Given the description of an element on the screen output the (x, y) to click on. 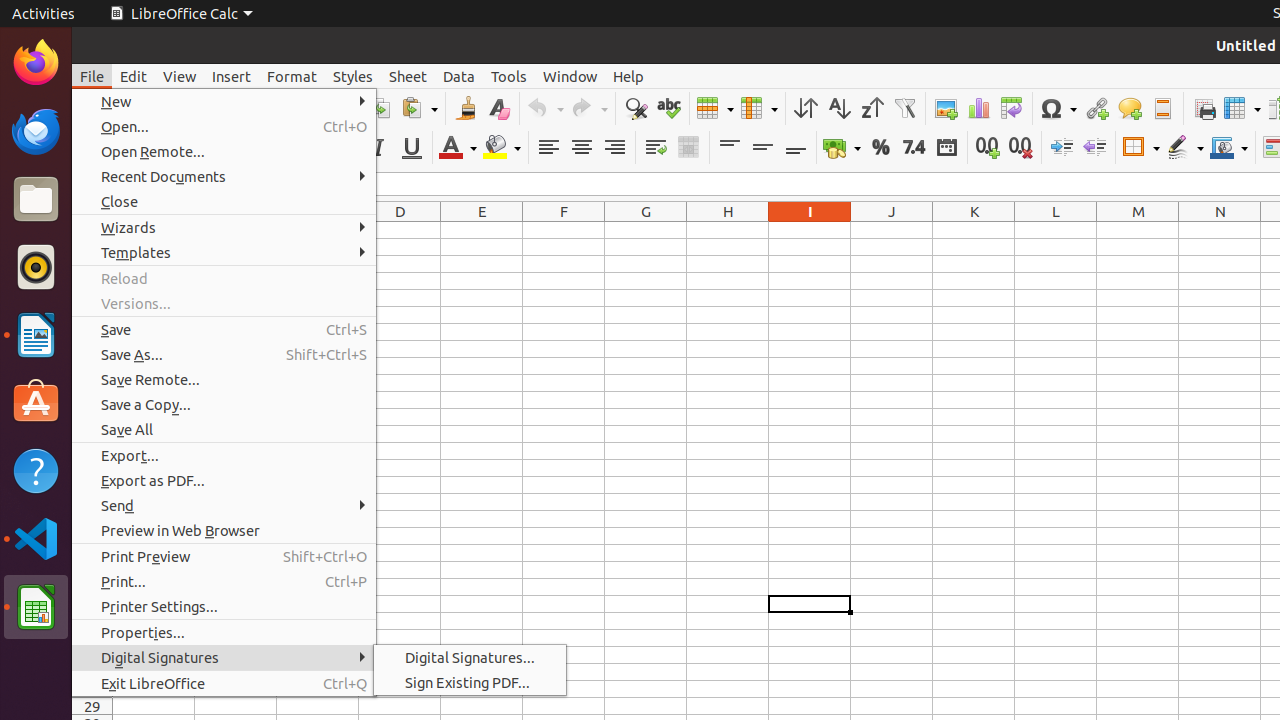
File Element type: menu (92, 76)
H1 Element type: table-cell (728, 230)
Data Element type: menu (459, 76)
New Element type: menu (224, 101)
Tools Element type: menu (509, 76)
